Given the description of an element on the screen output the (x, y) to click on. 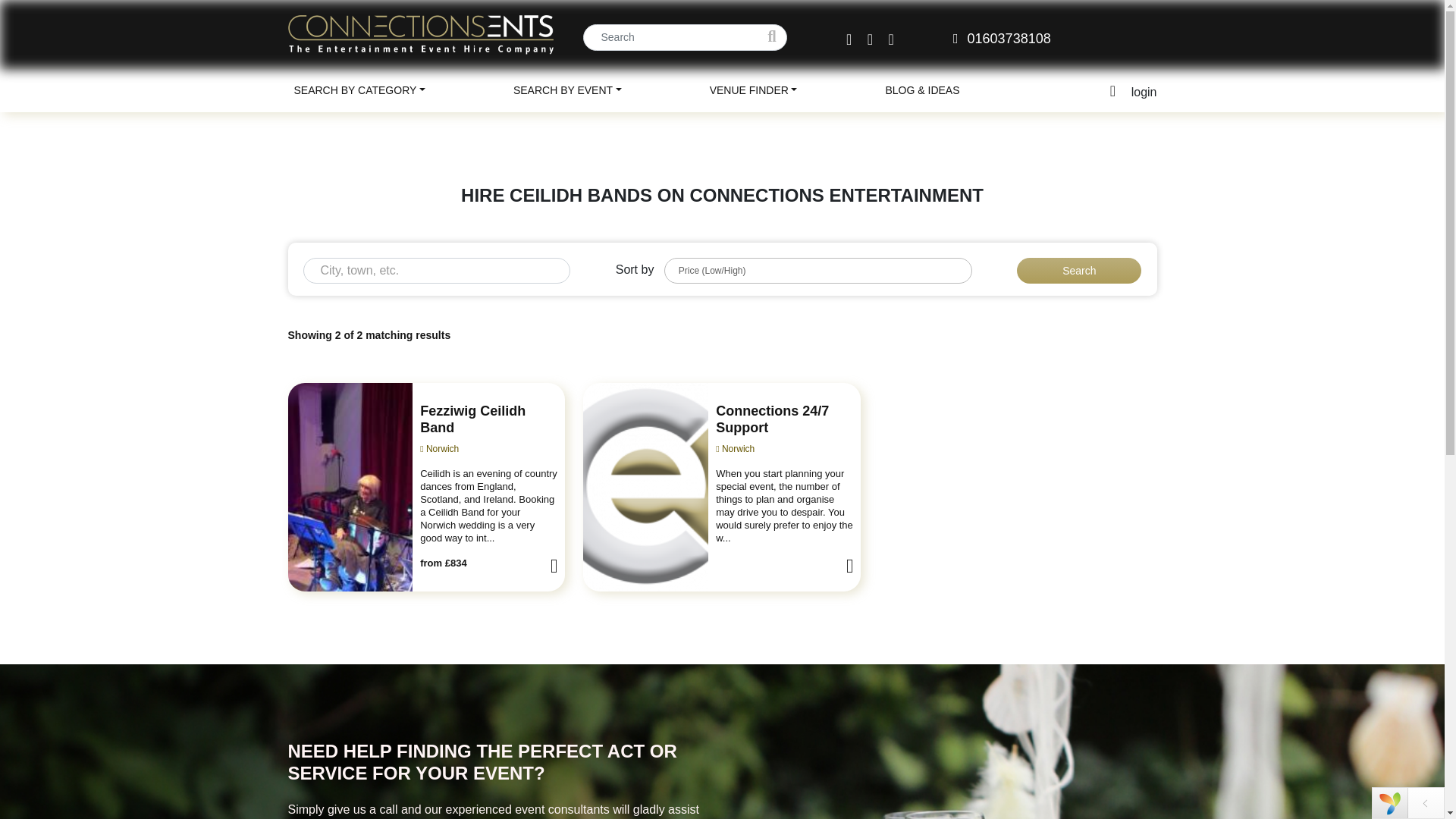
01603738108 (1002, 38)
SEARCH BY EVENT (566, 90)
VENUE FINDER (753, 90)
Search (1078, 270)
Norwich (439, 448)
SEARCH BY CATEGORY (359, 90)
login (1144, 91)
Norwich (735, 448)
